Given the description of an element on the screen output the (x, y) to click on. 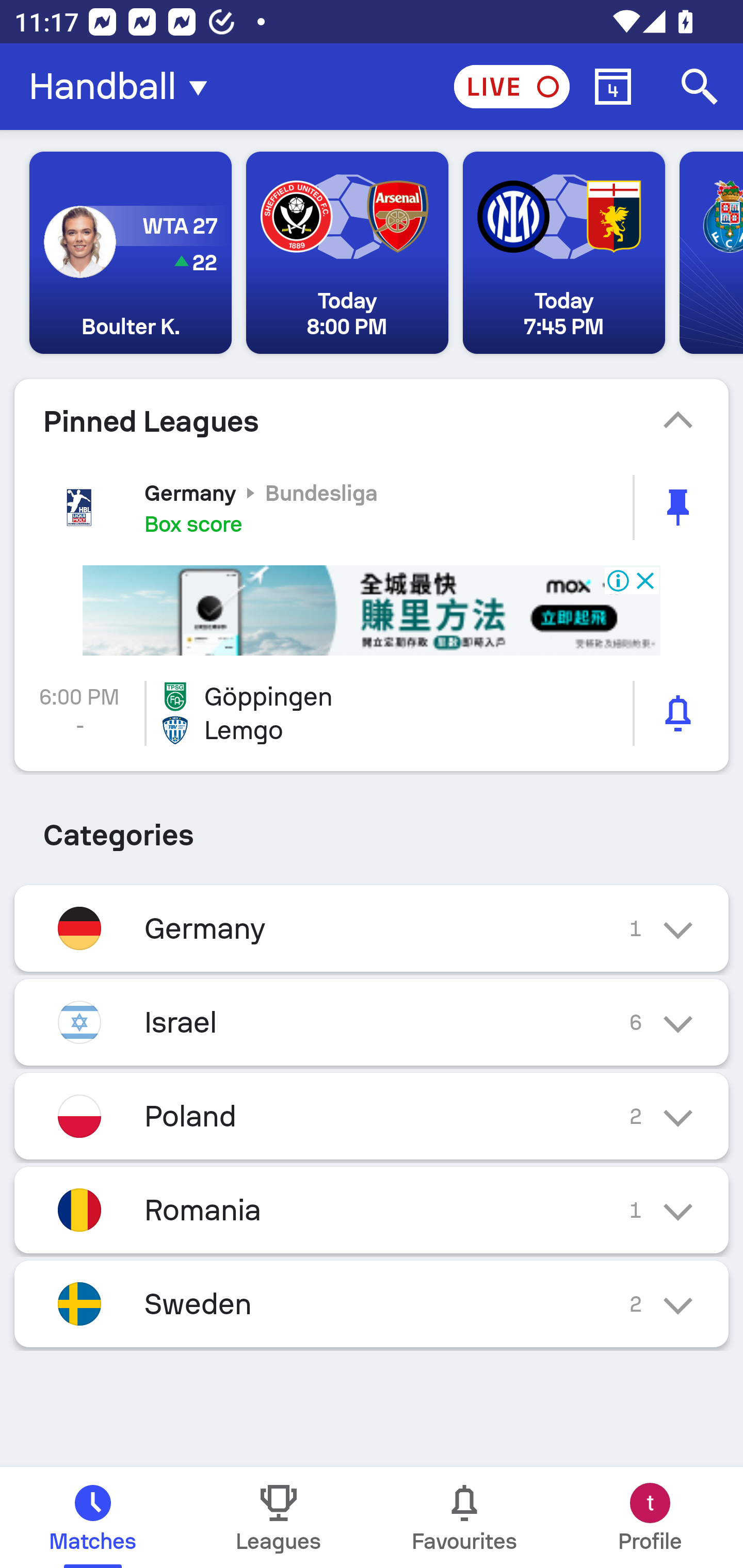
Handball (124, 86)
Calendar (612, 86)
Search (699, 86)
WTA 27 22 Boulter K. (130, 253)
Today
8:00 PM (346, 253)
Today
7:45 PM (563, 253)
Pinned Leagues (371, 421)
Germany Bundesliga Box score (371, 507)
Advertisement (371, 610)
6:00 PM - Göppingen Lemgo (371, 713)
Categories (371, 827)
Germany 1 (371, 928)
Israel 6 (371, 1022)
Poland 2 (371, 1115)
Romania 1 (371, 1209)
Sweden 2 (371, 1303)
Leagues (278, 1517)
Favourites (464, 1517)
Profile (650, 1517)
